Given the description of an element on the screen output the (x, y) to click on. 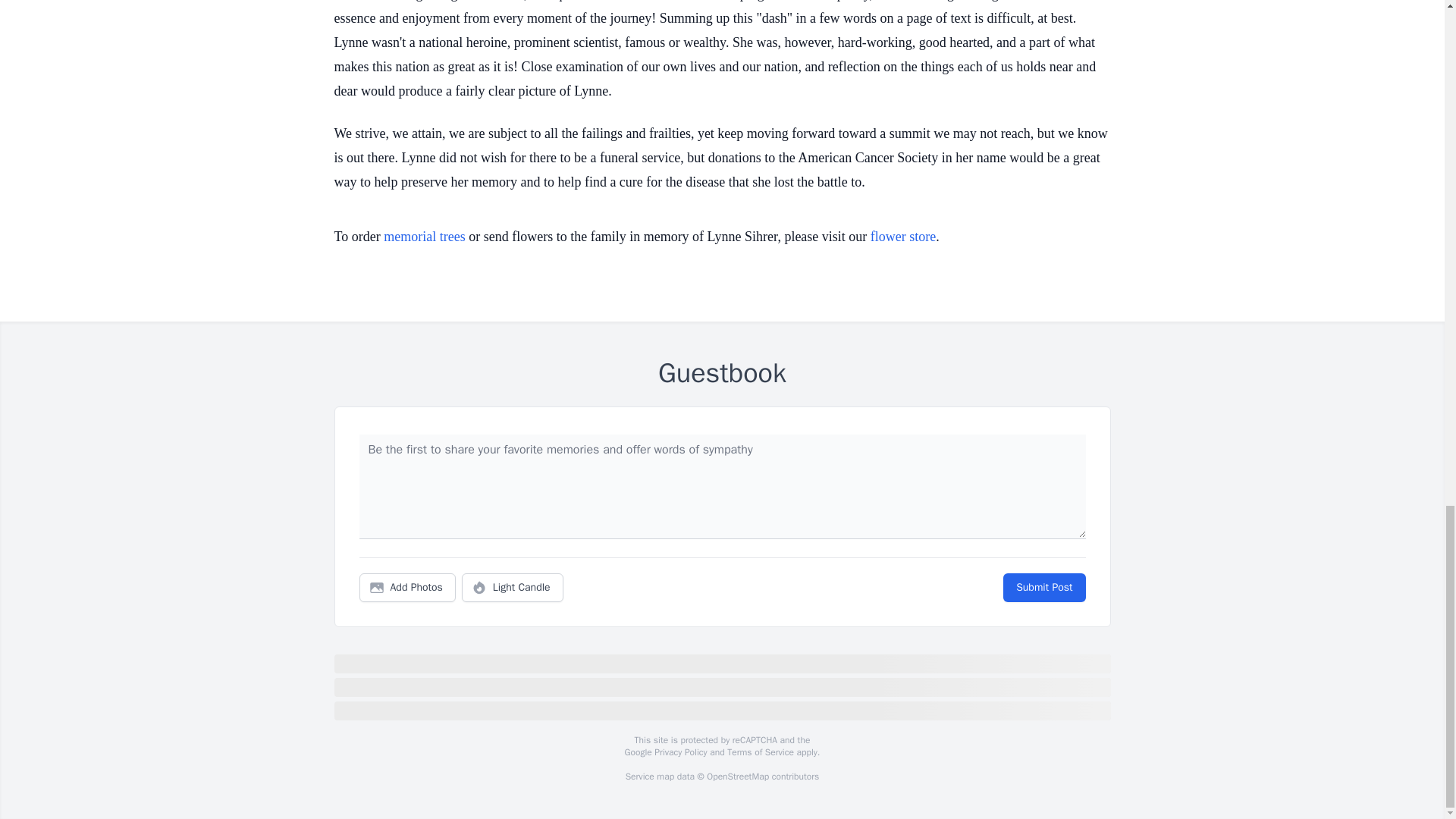
Terms of Service (759, 752)
memorial trees (424, 236)
Light Candle (512, 587)
Privacy Policy (679, 752)
Add Photos (407, 587)
flower store (903, 236)
Submit Post (1043, 587)
OpenStreetMap (737, 776)
